Given the description of an element on the screen output the (x, y) to click on. 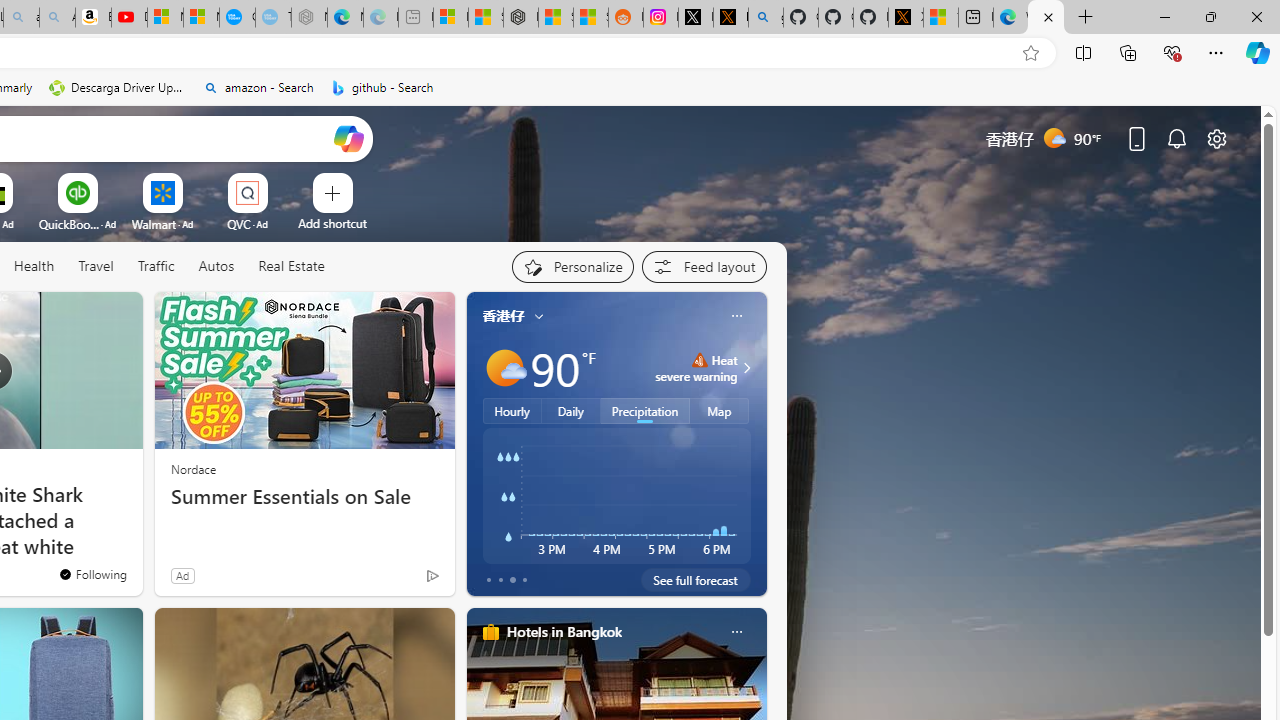
Map (719, 411)
Log in to X / X (695, 17)
Heat - Severe (699, 359)
Daily (571, 411)
My location (538, 315)
Summer Essentials on Sale (304, 497)
